Given the description of an element on the screen output the (x, y) to click on. 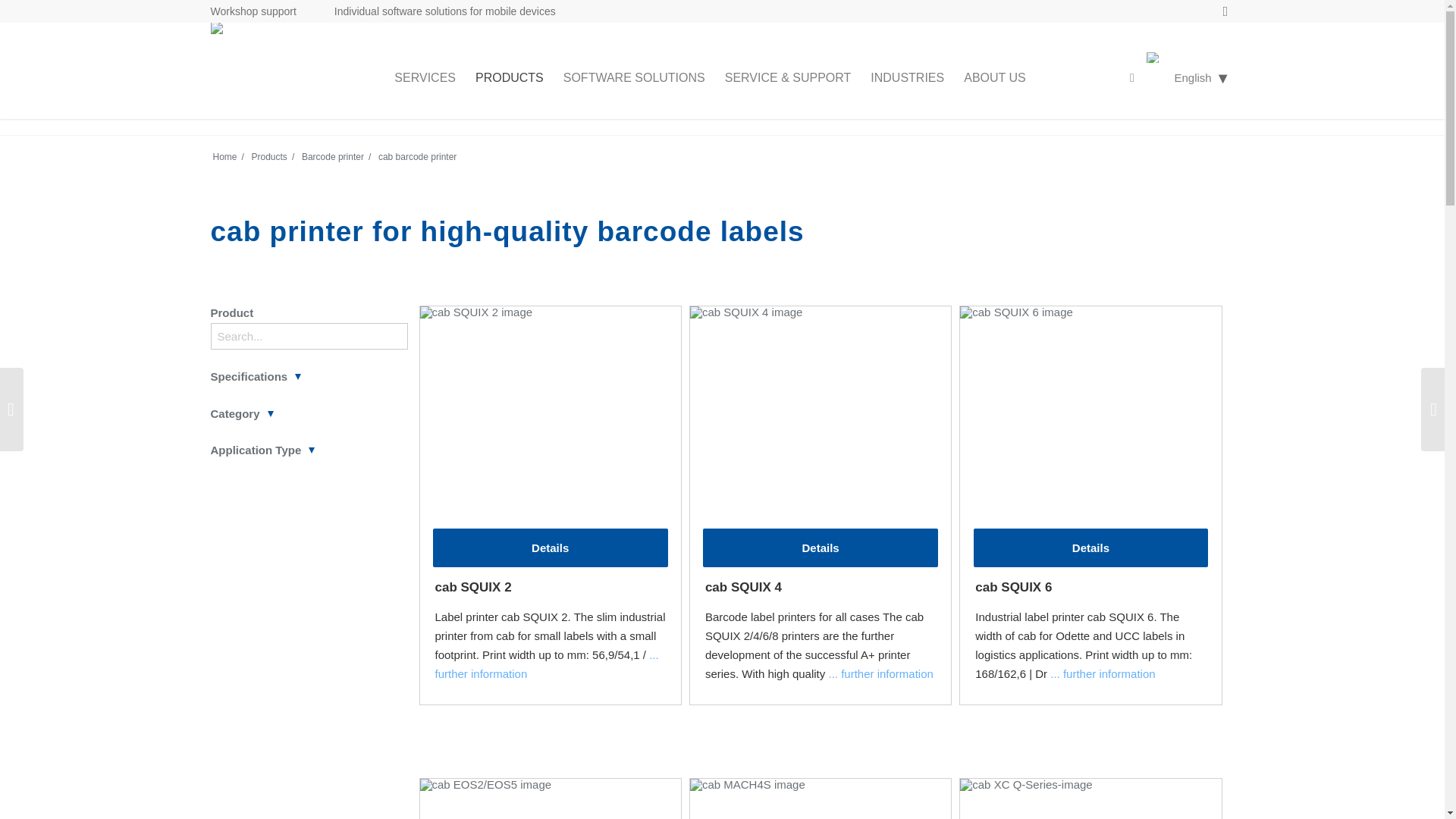
Products (268, 156)
Individual software solutions for mobile devices (445, 11)
Integer Solutions (225, 156)
Workshop support (254, 11)
Barcode printer (332, 156)
PRODUCTS (509, 77)
